Given the description of an element on the screen output the (x, y) to click on. 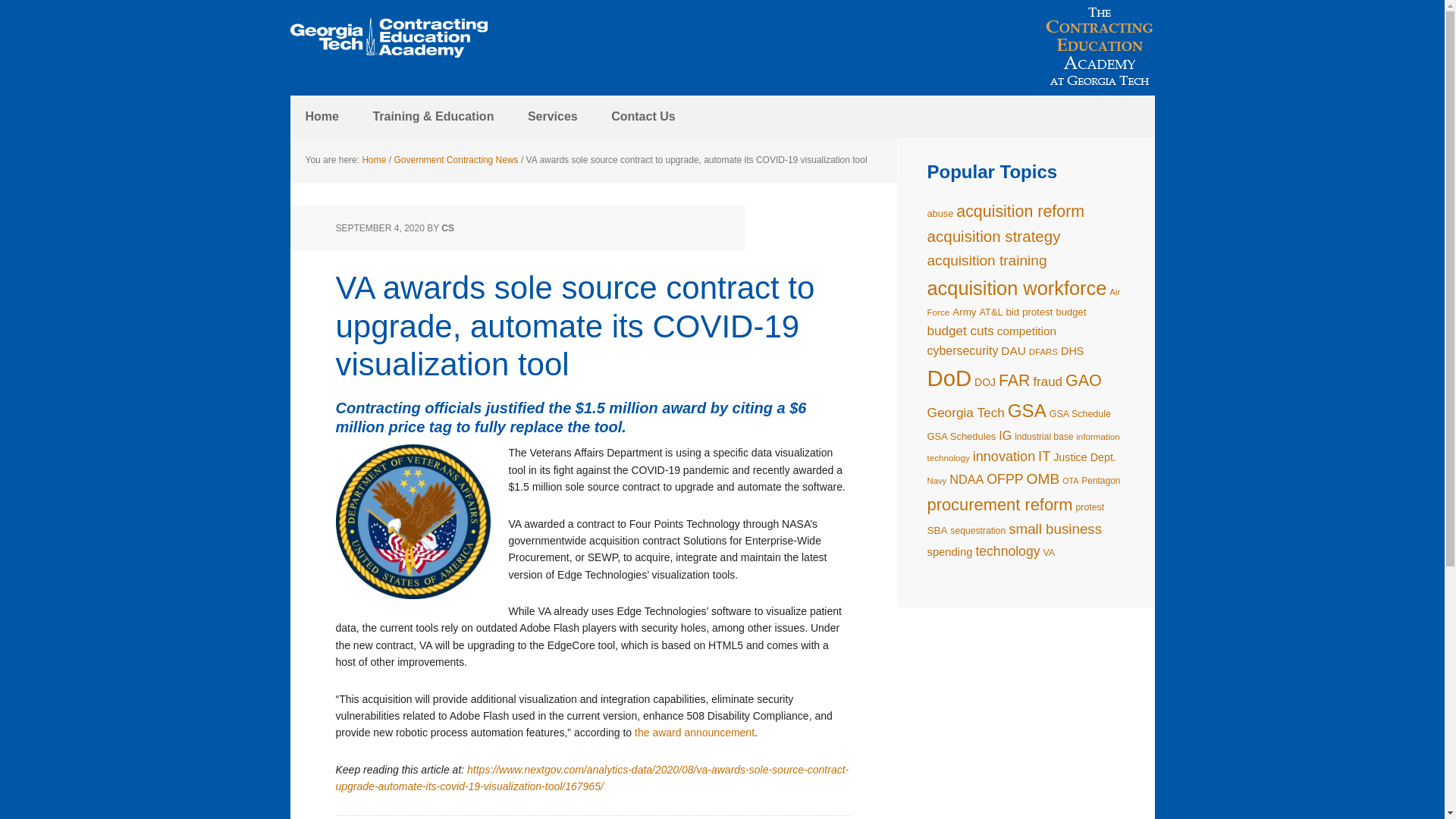
DOJ (984, 381)
Georgia Tech (965, 412)
competition (1027, 330)
budget (1070, 311)
 the award announcement (692, 732)
Home (373, 159)
DAU (1013, 350)
acquisition strategy (992, 235)
abuse (939, 213)
acquisition workforce (1016, 287)
Services (552, 116)
Army (963, 311)
Air Force (1022, 301)
cybersecurity (961, 350)
acquisition training (986, 260)
